Given the description of an element on the screen output the (x, y) to click on. 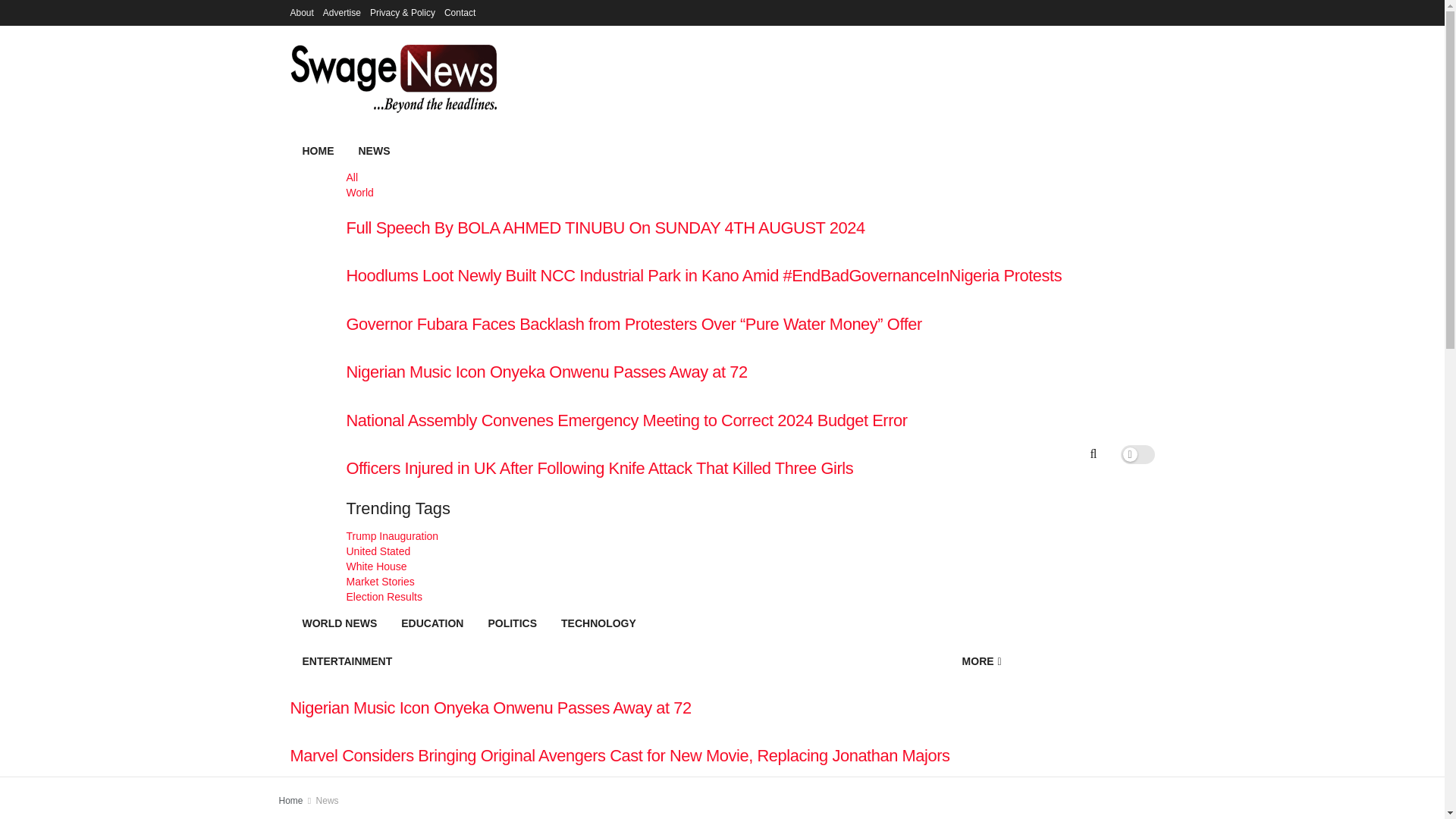
Market Stories (703, 581)
POLITICS (512, 623)
Trump Inauguration (703, 535)
White House (703, 566)
Nigerian Music Icon Onyeka Onwenu Passes Away at 72 (619, 708)
Contact (460, 12)
United Stated (703, 550)
About (301, 12)
All (703, 177)
